Given the description of an element on the screen output the (x, y) to click on. 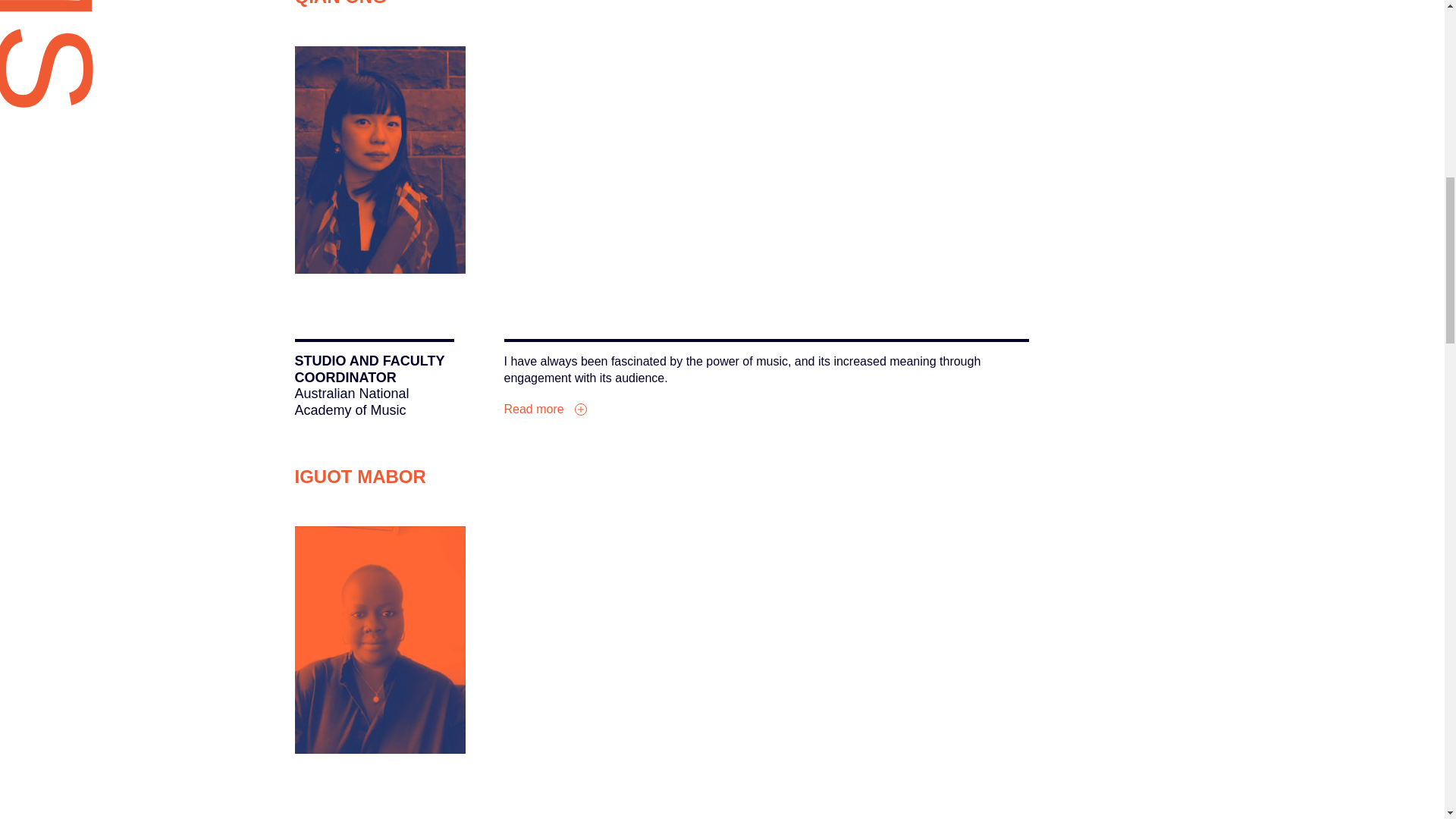
Read more (544, 408)
